Given the description of an element on the screen output the (x, y) to click on. 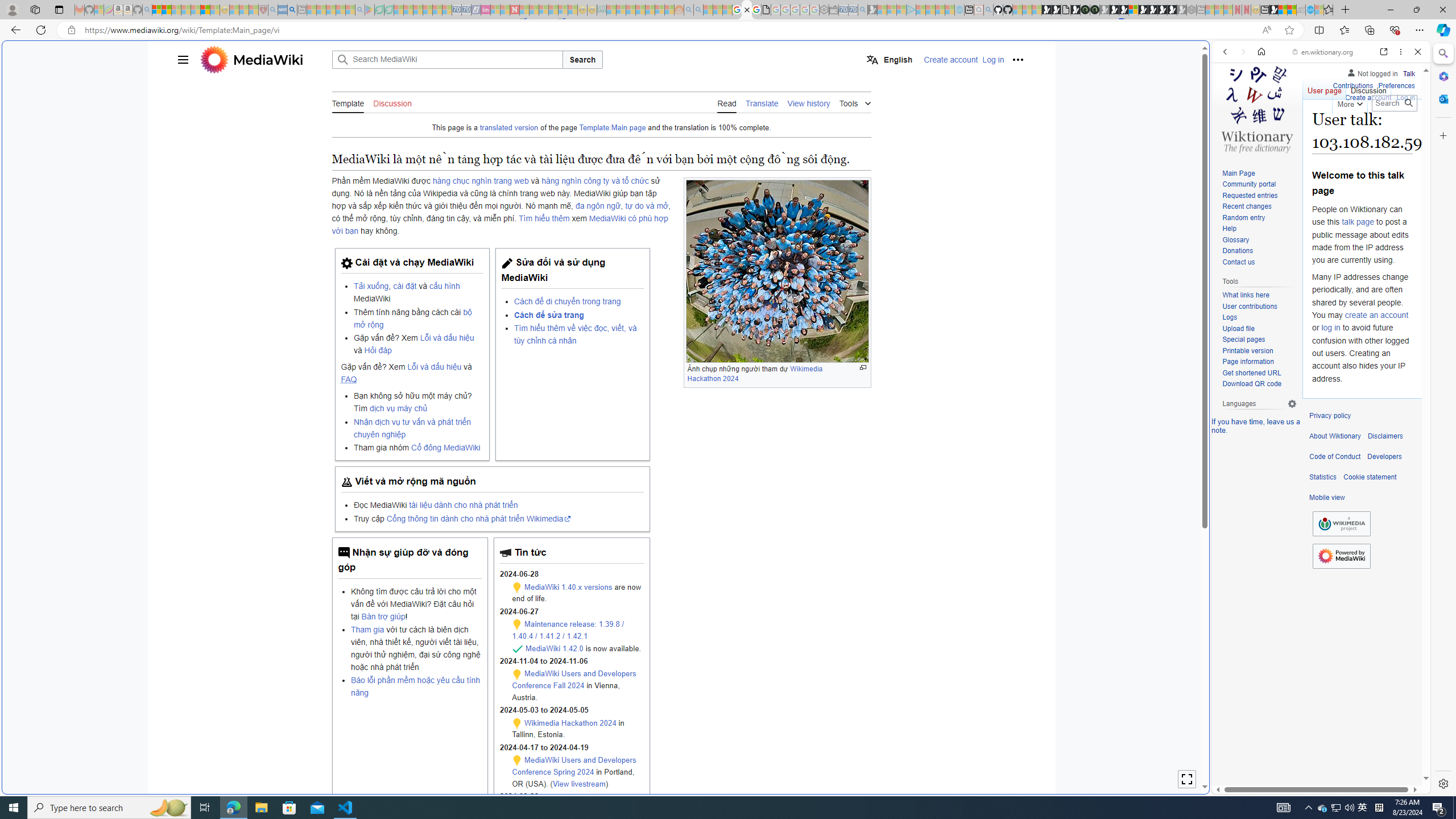
en.wiktionary.org (1323, 51)
User page (1324, 87)
Page information (1259, 361)
Earth has six continents not seven, radical new study claims (1291, 9)
